Given the description of an element on the screen output the (x, y) to click on. 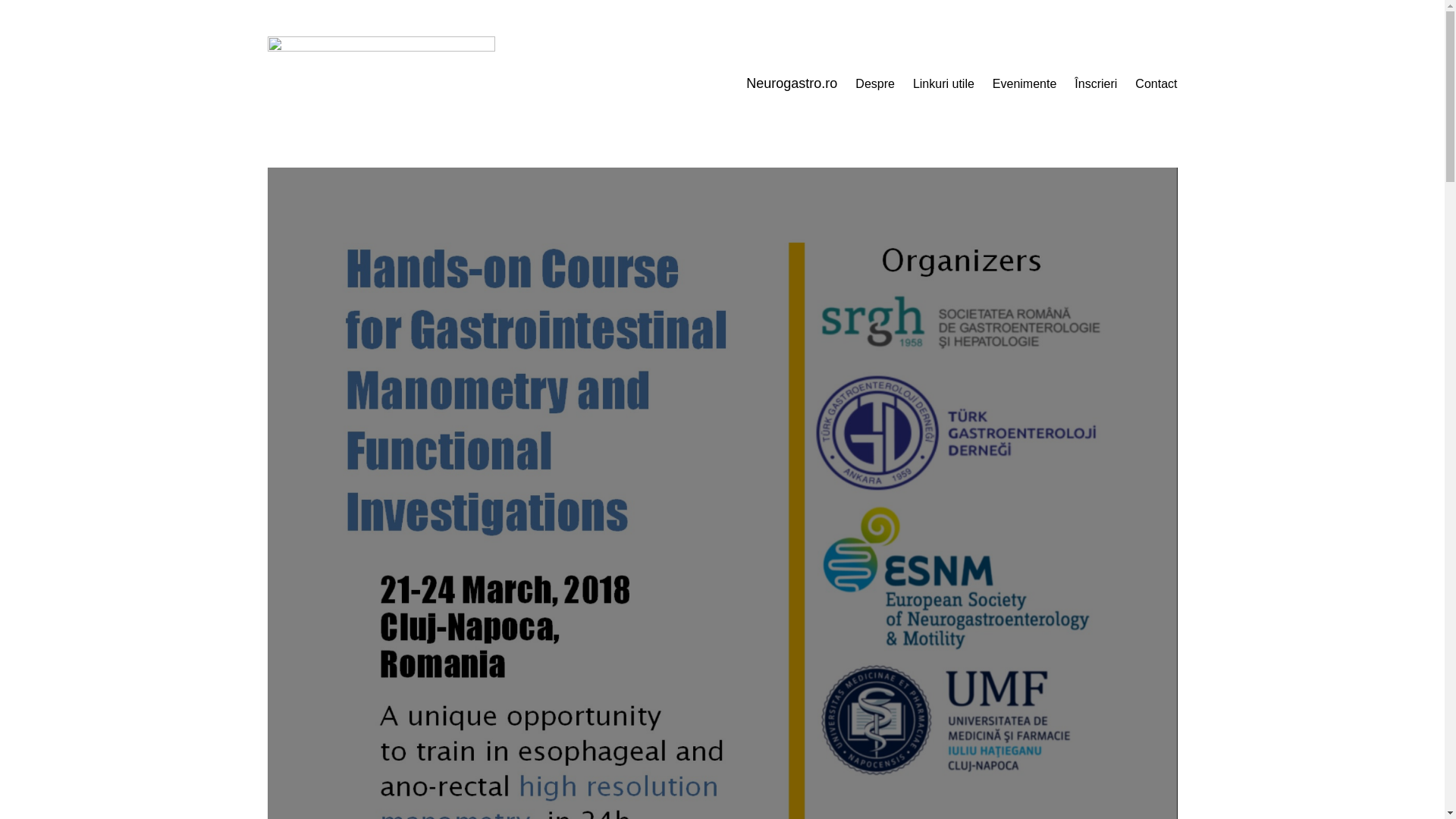
Neurogastro.ro (791, 83)
Evenimente (1024, 84)
Linkuri utile (943, 84)
Despre (875, 84)
Contact (1155, 84)
